Given the description of an element on the screen output the (x, y) to click on. 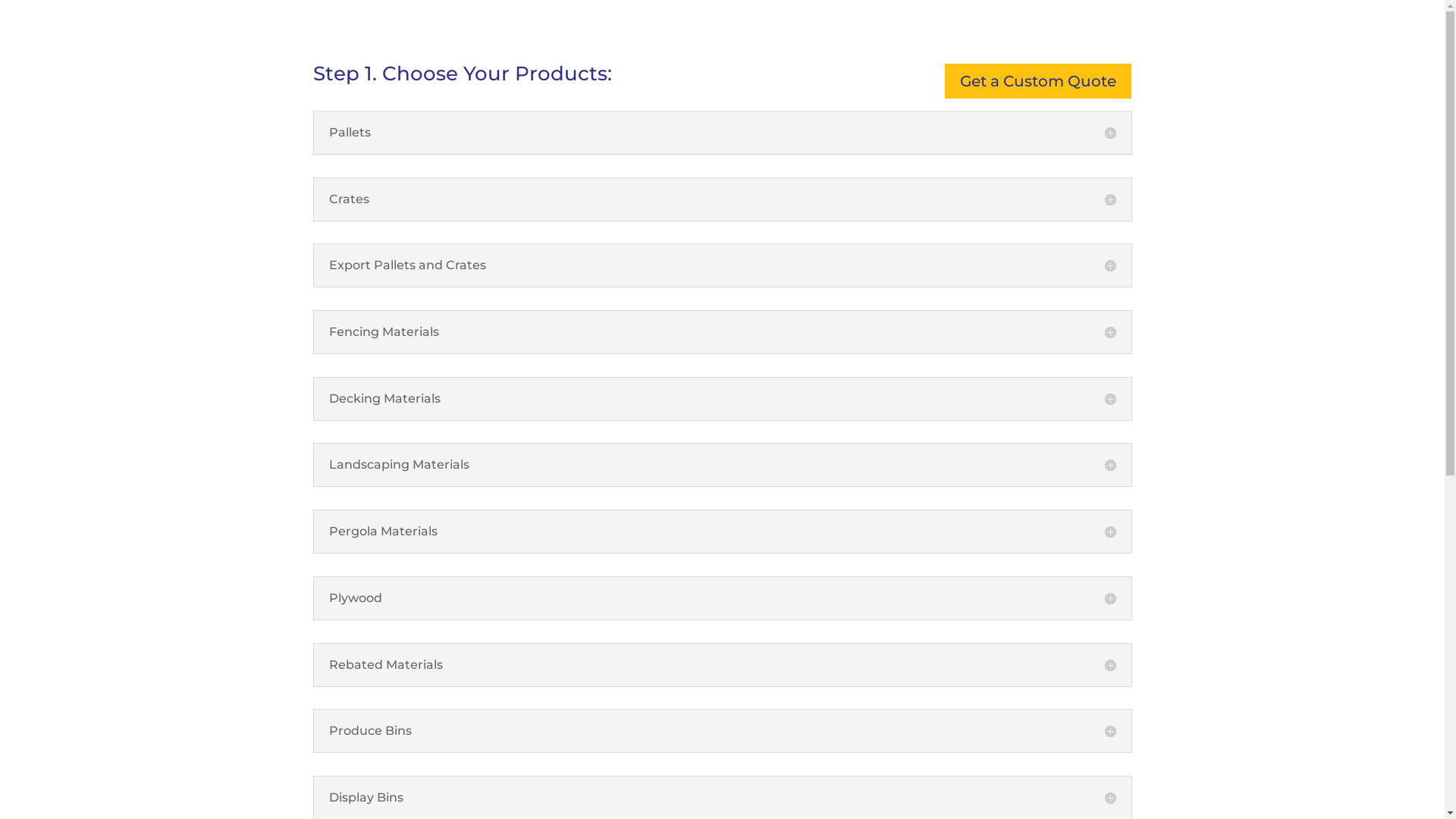
Get a Custom Quote Element type: text (1037, 80)
